Given the description of an element on the screen output the (x, y) to click on. 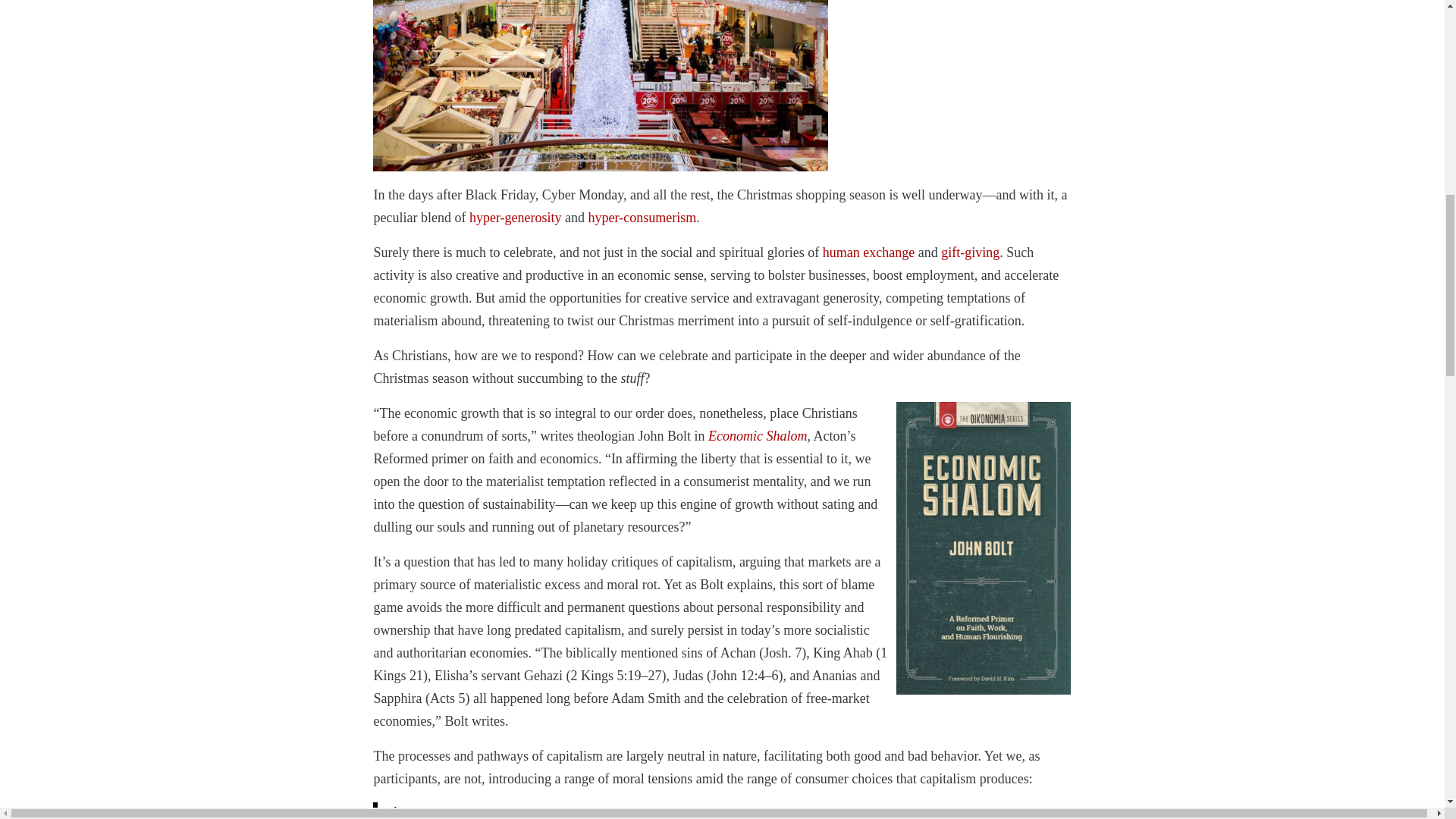
hyper-consumerism (642, 216)
Economic Shalom (756, 435)
hyper-generosity (515, 216)
gift-giving (969, 251)
human exchange (868, 251)
